Given the description of an element on the screen output the (x, y) to click on. 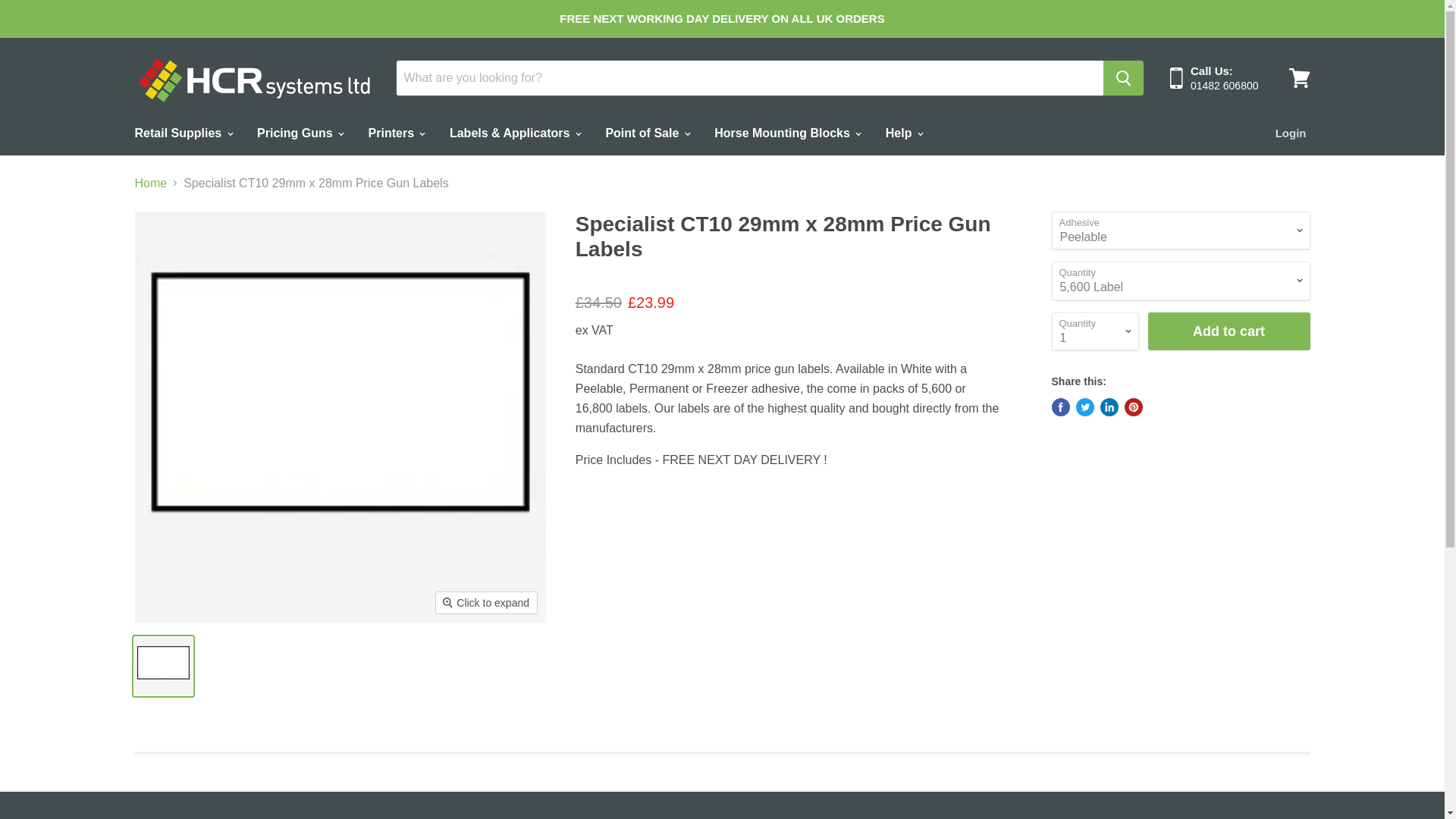
Retail Supplies (181, 132)
View cart (1299, 77)
Pricing Guns (299, 132)
